Given the description of an element on the screen output the (x, y) to click on. 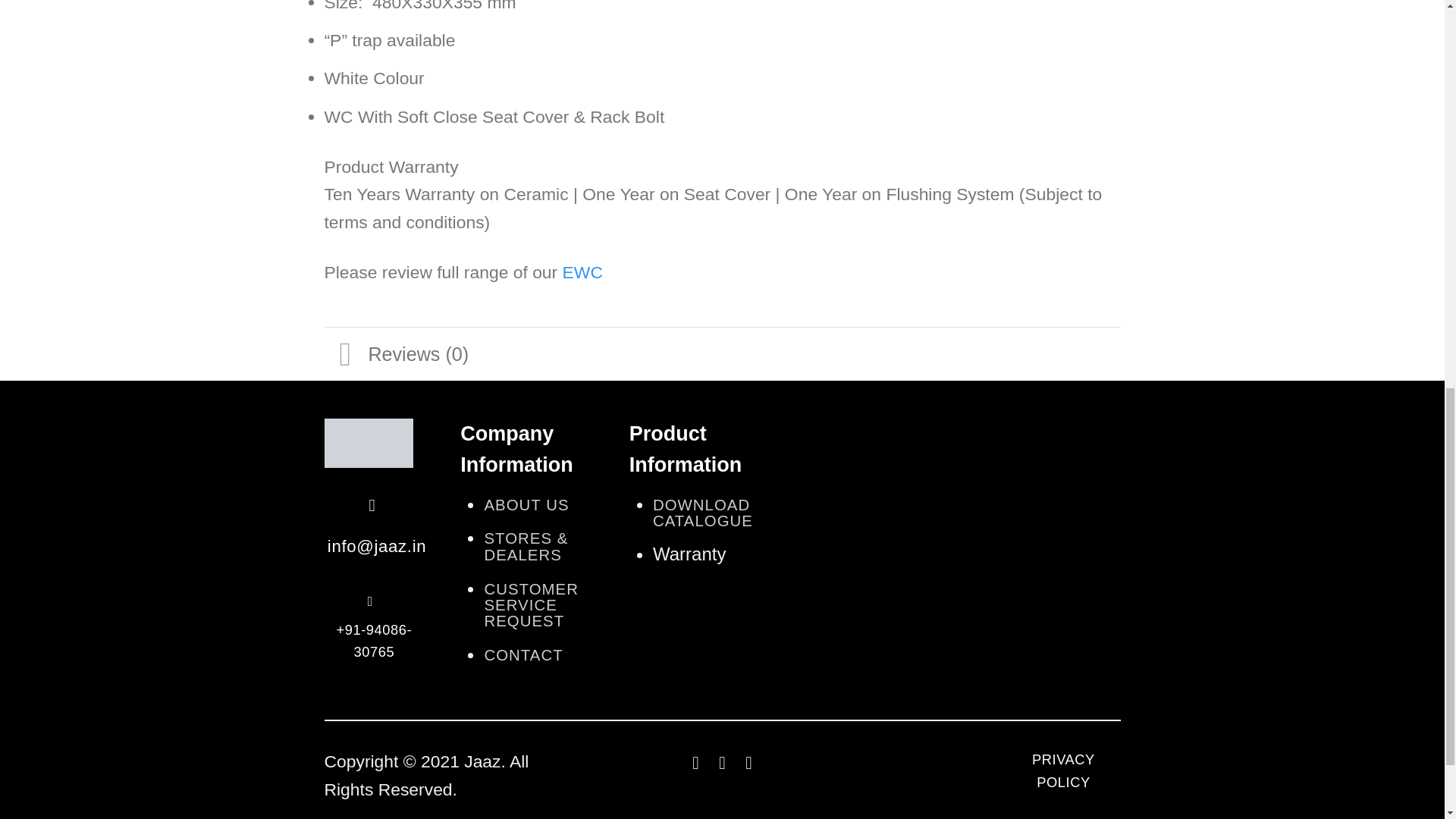
DOWNLOAD CATALOGUE (702, 512)
ABOUT US (526, 504)
Follow on YouTube (748, 762)
Follow on Facebook (695, 762)
Follow on Instagram (721, 762)
EWC (582, 271)
CUSTOMER SERVICE REQUEST (530, 604)
CONTACT (522, 655)
PRIVACY POLICY (1062, 773)
